Given the description of an element on the screen output the (x, y) to click on. 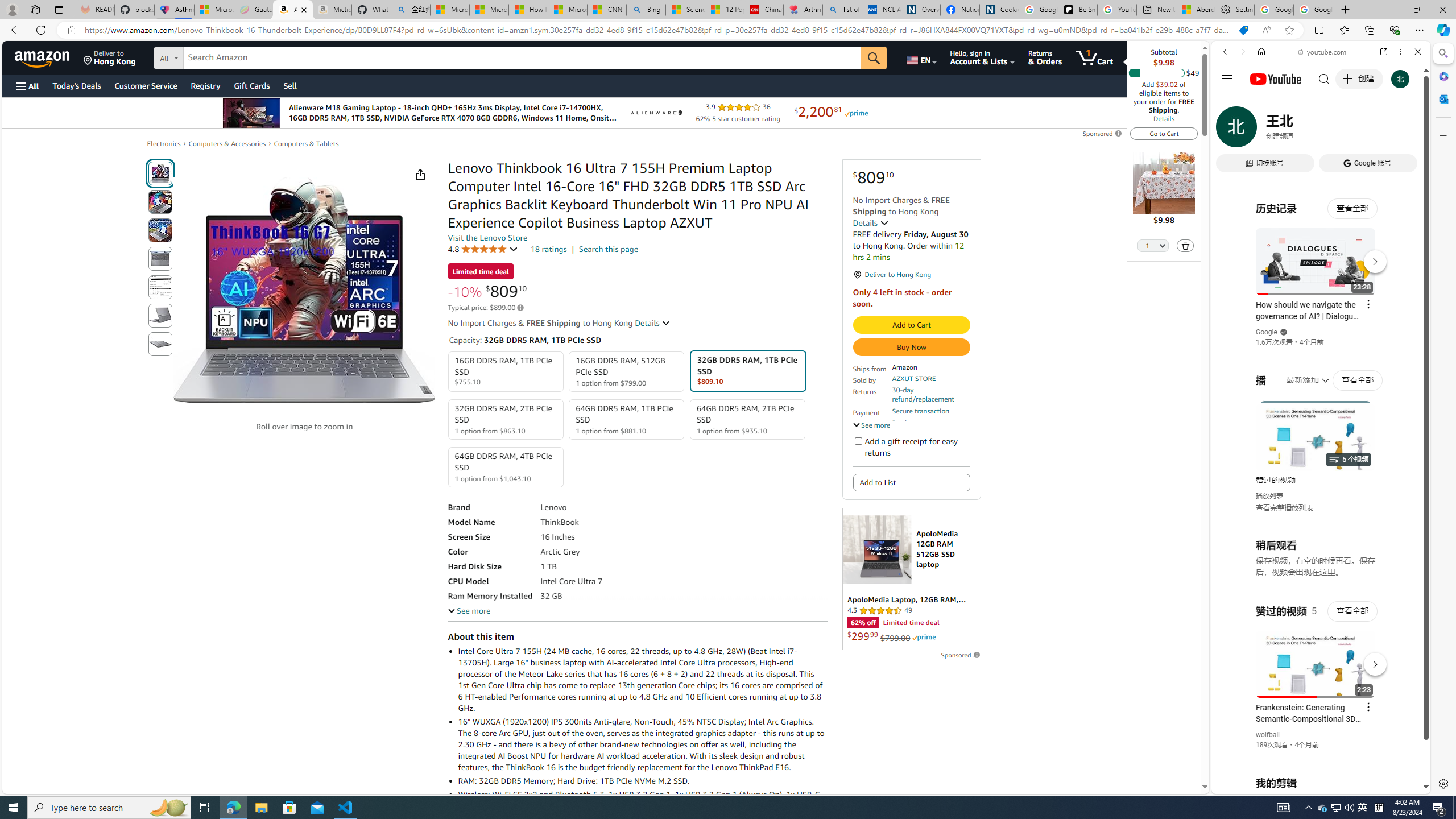
Open Menu (26, 86)
Search this page (608, 248)
YouTube - YouTube (1315, 560)
